Given the description of an element on the screen output the (x, y) to click on. 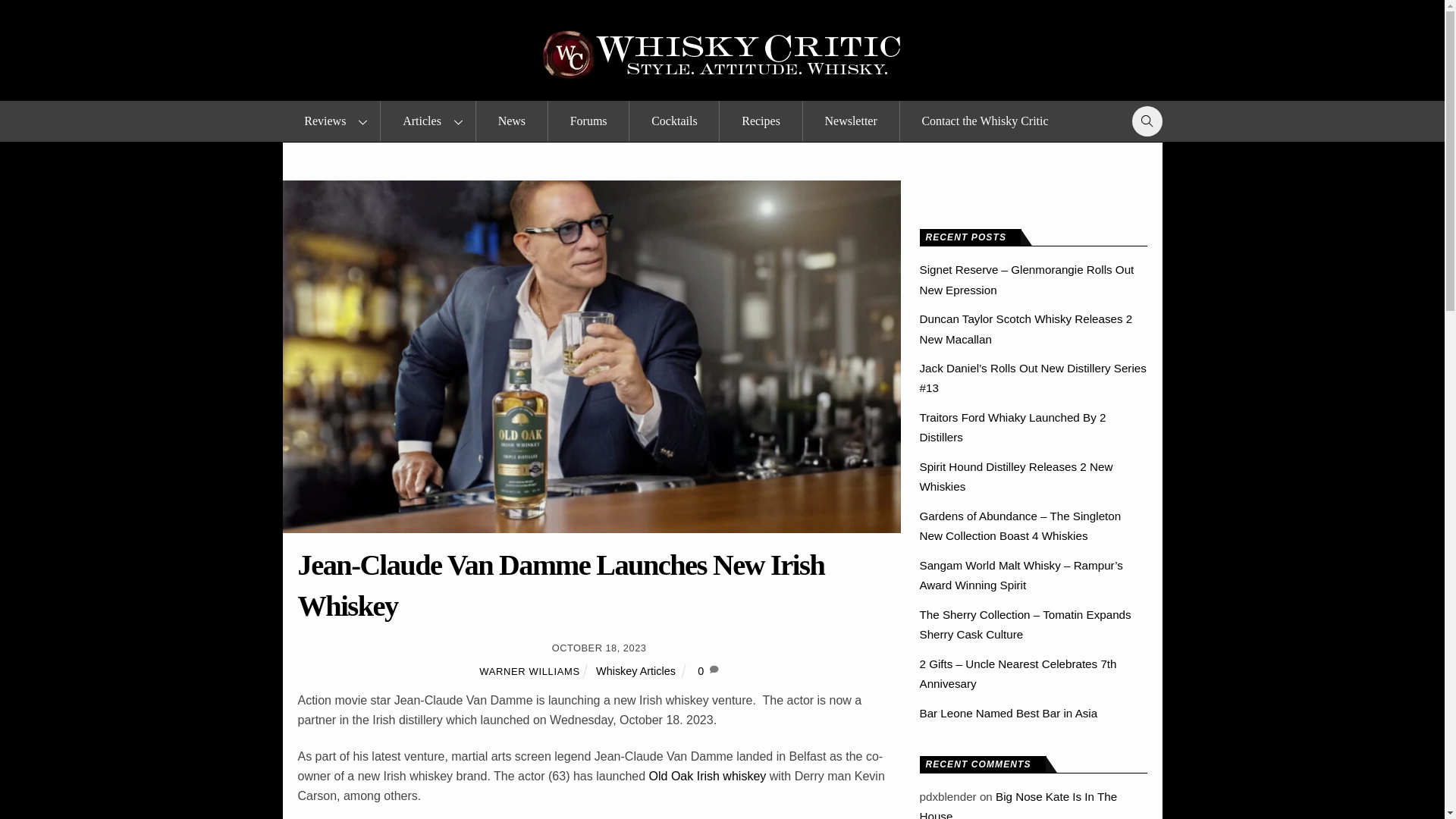
Whisky Critic (721, 54)
Contact the Whisky Critic (984, 120)
Jean-Claude Van Damme Launches New Irish Whiskey (560, 584)
News (511, 120)
WARNER WILLIAMS (529, 671)
Articles (427, 120)
Forums (587, 120)
Cocktails (673, 120)
Search (1142, 121)
Whiskey Articles (635, 671)
Reviews (331, 120)
Duncan Taylor Scotch Whisky Releases 2 New Macallan (1025, 328)
Old Oak Irish whiskey (708, 775)
Recipes (760, 120)
